Given the description of an element on the screen output the (x, y) to click on. 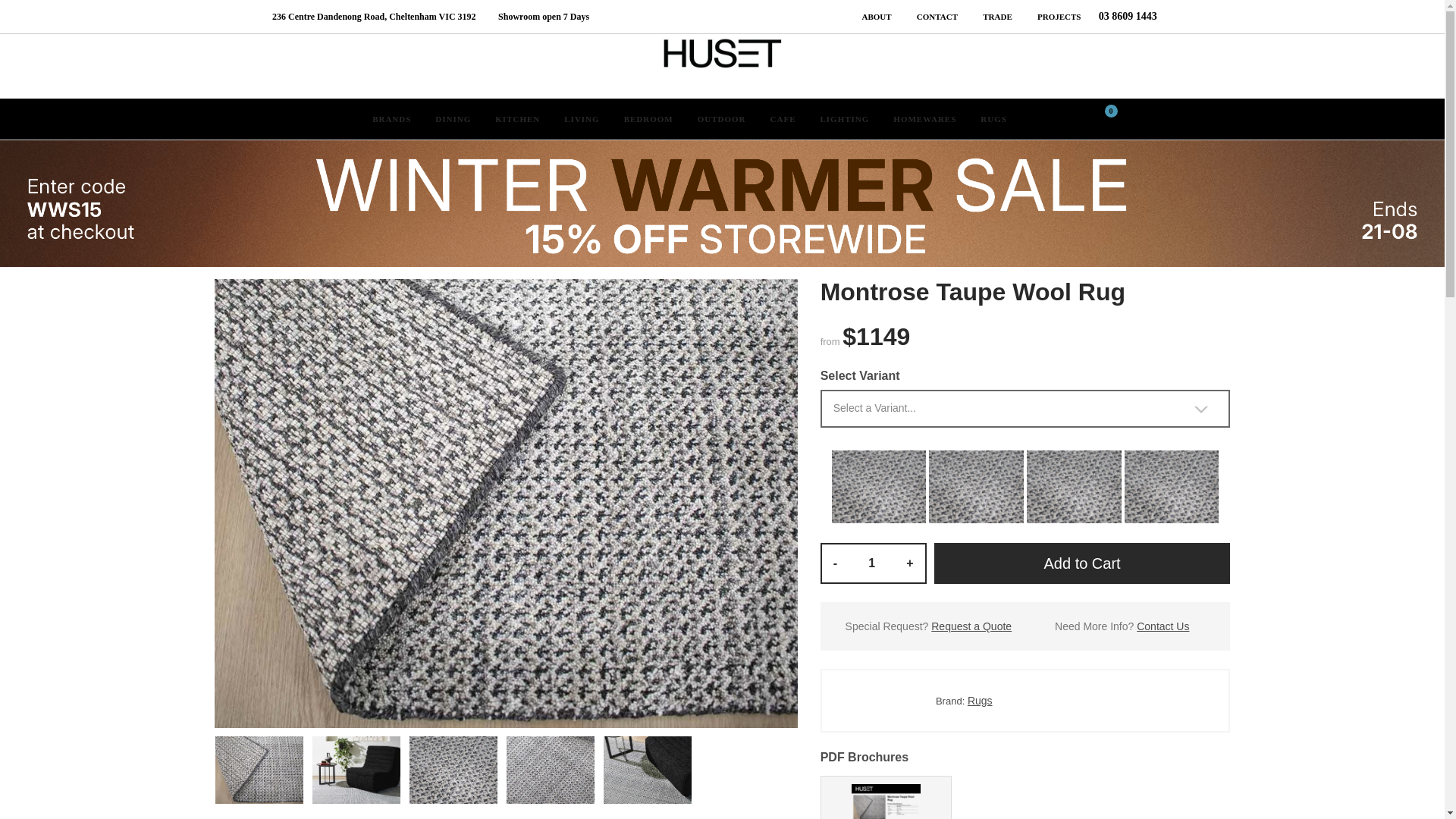
300x400cm (1171, 484)
PROJECTS (1051, 16)
250x350cm (1073, 484)
1 (871, 563)
BRANDS (391, 119)
160x230cm (878, 484)
200x290cm (976, 484)
ABOUT (868, 16)
KITCHEN (517, 119)
03 8609 1443 (1120, 16)
